Given the description of an element on the screen output the (x, y) to click on. 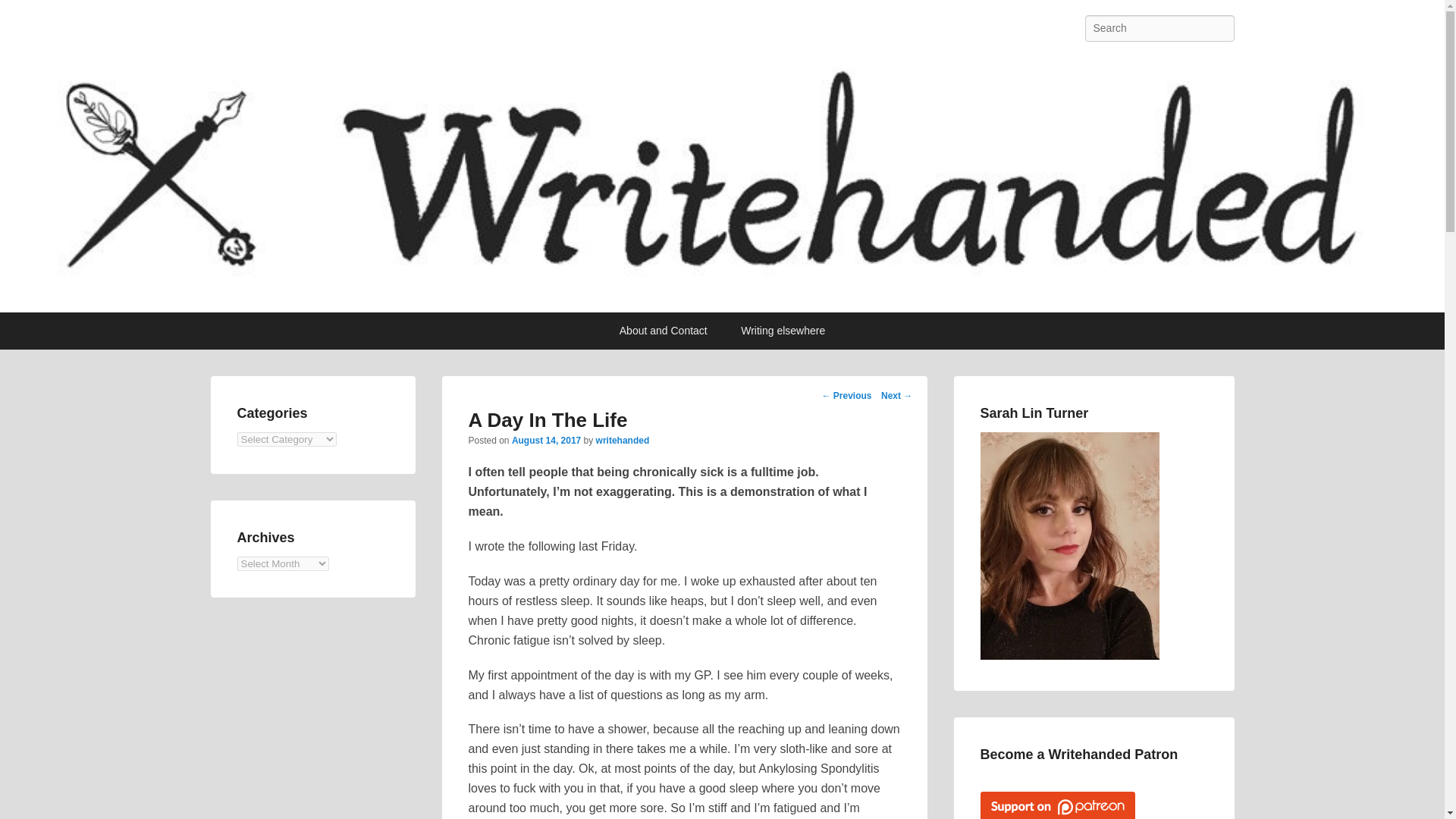
3:14 pm (546, 439)
Search (24, 14)
Writing elsewhere (782, 330)
August 14, 2017 (546, 439)
View all posts by writehanded (622, 439)
About and Contact (663, 330)
writehanded (622, 439)
